Given the description of an element on the screen output the (x, y) to click on. 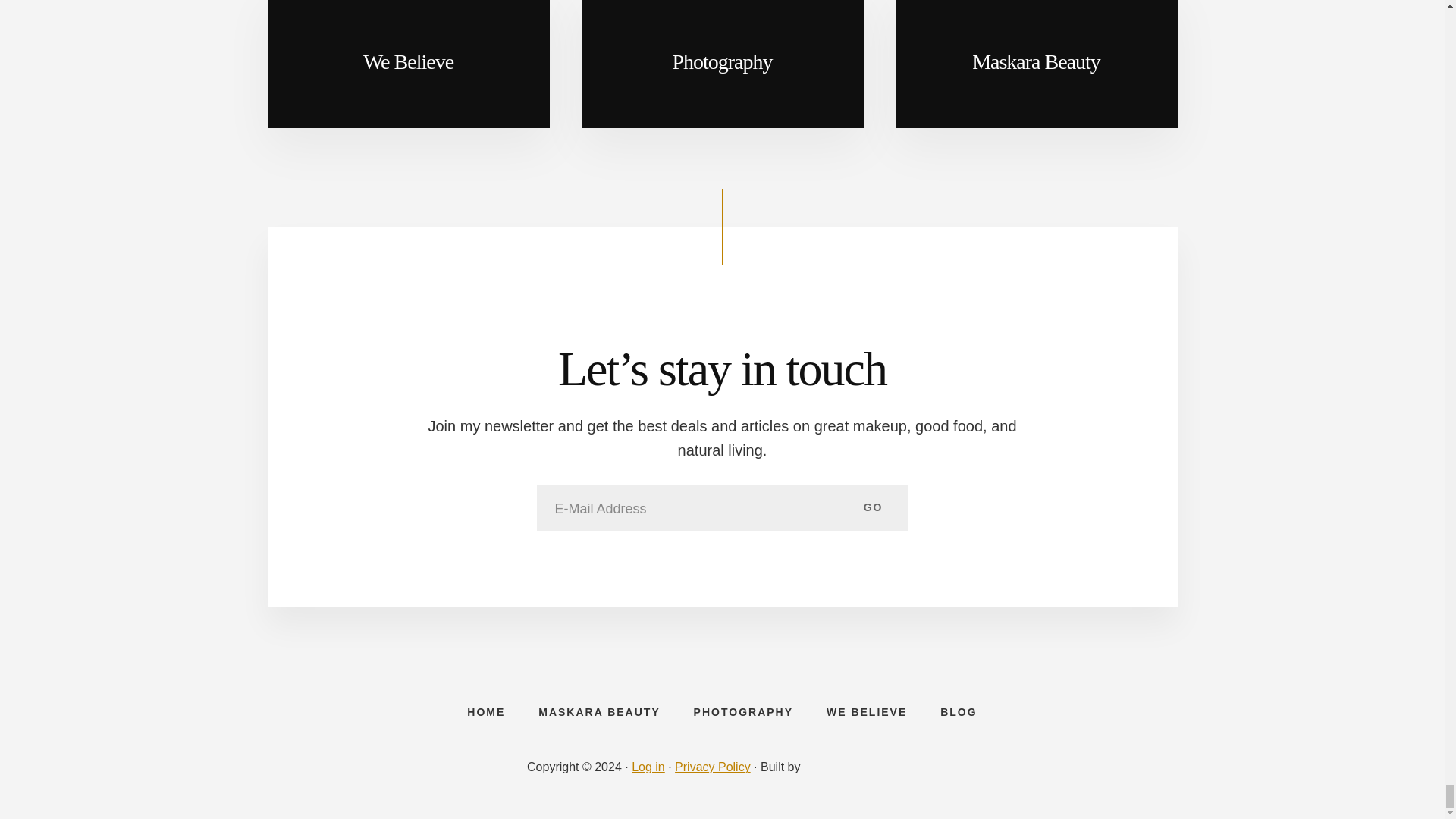
Go (873, 506)
